Given the description of an element on the screen output the (x, y) to click on. 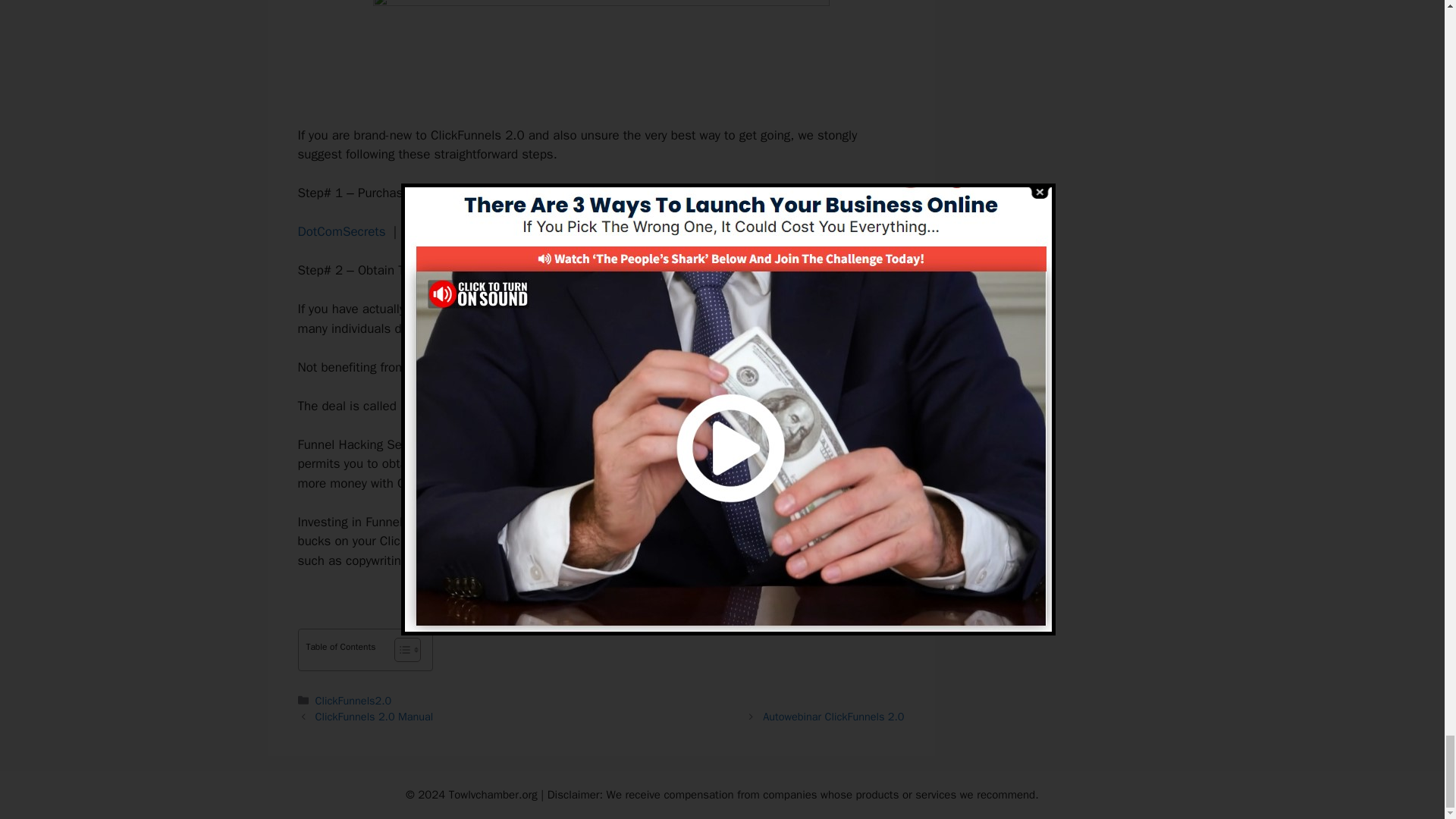
DotComSecrets (341, 231)
Expert Secrets (445, 231)
Traffic Secrets (545, 231)
Funnel Builder Secrets (463, 406)
ClickFunnels 2.0 (520, 308)
